Given the description of an element on the screen output the (x, y) to click on. 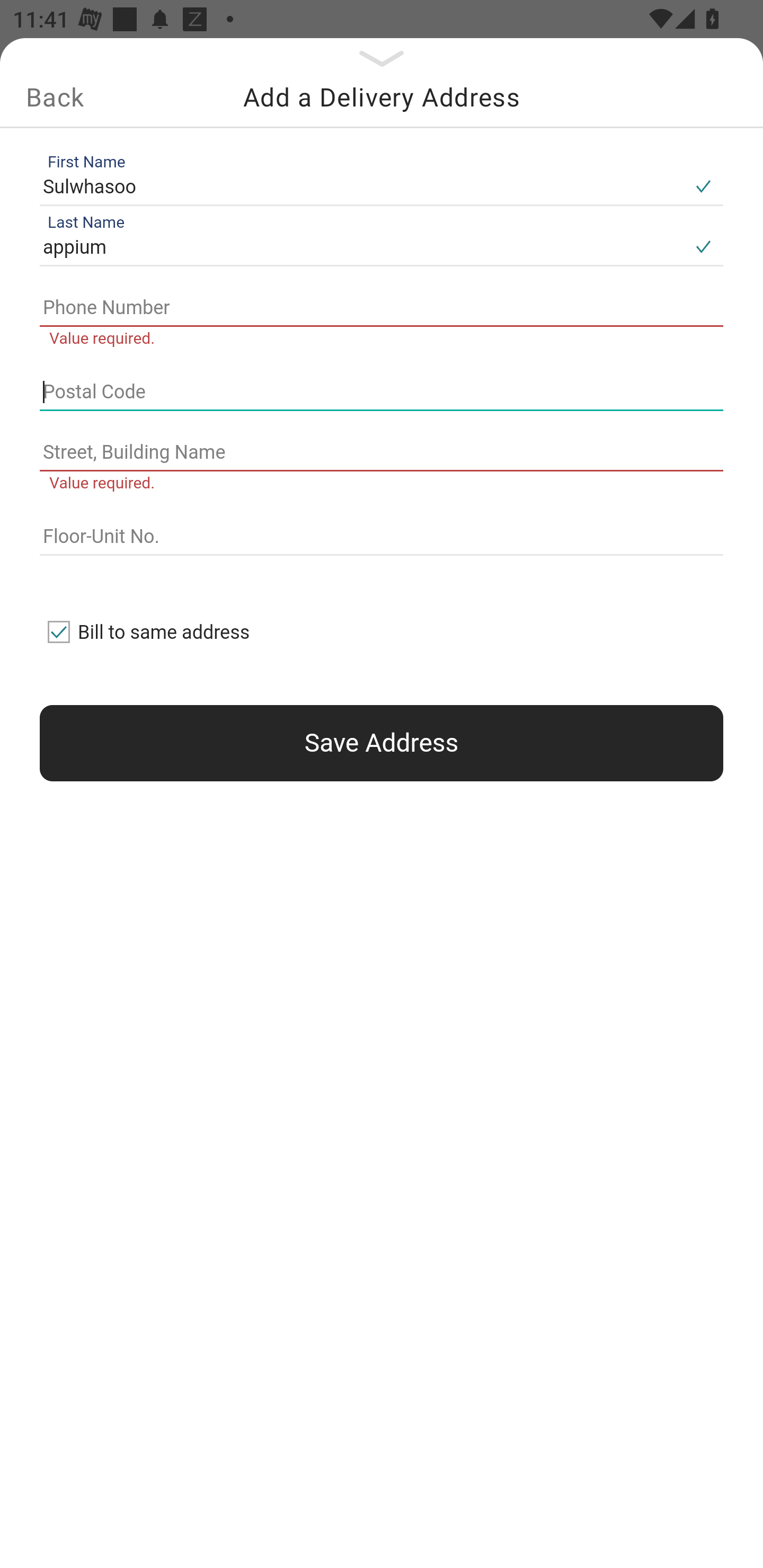
Back (54, 96)
Add a Delivery Address (381, 96)
Sulwhasoo (361, 186)
appium (361, 247)
Save Address (381, 742)
